Given the description of an element on the screen output the (x, y) to click on. 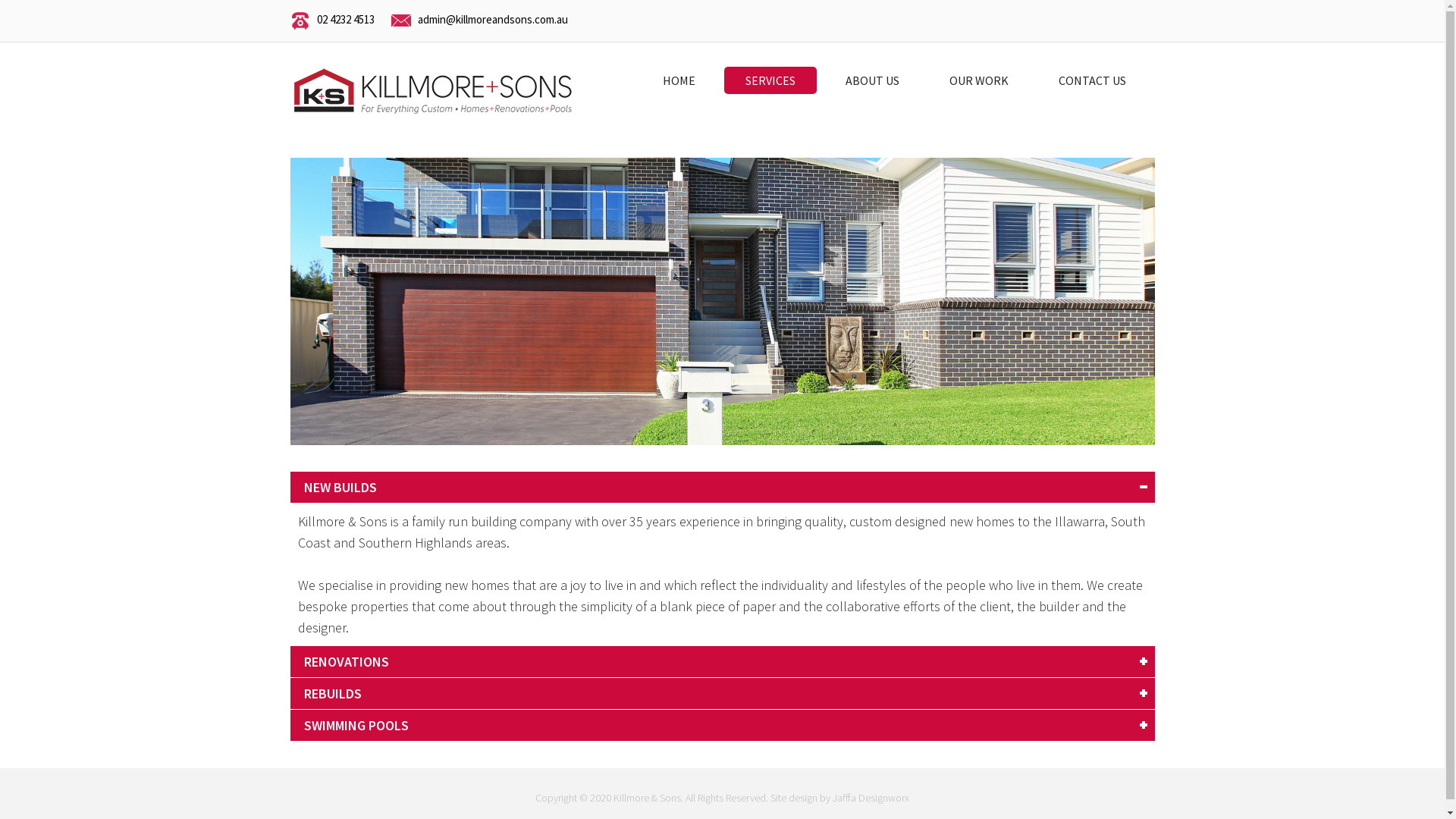
SWIMMING POOLS Element type: text (721, 724)
REBUILDS Element type: text (721, 693)
HOME Element type: text (678, 80)
ABOUT US Element type: text (871, 80)
02 4232 4513 Element type: text (345, 19)
RENOVATIONS Element type: text (721, 661)
NEW BUILDS Element type: text (721, 486)
CONTACT US Element type: text (1092, 80)
OUR WORK Element type: text (978, 80)
admin@killmoreandsons.com.au Element type: text (492, 19)
SERVICES Element type: text (769, 80)
